Given the description of an element on the screen output the (x, y) to click on. 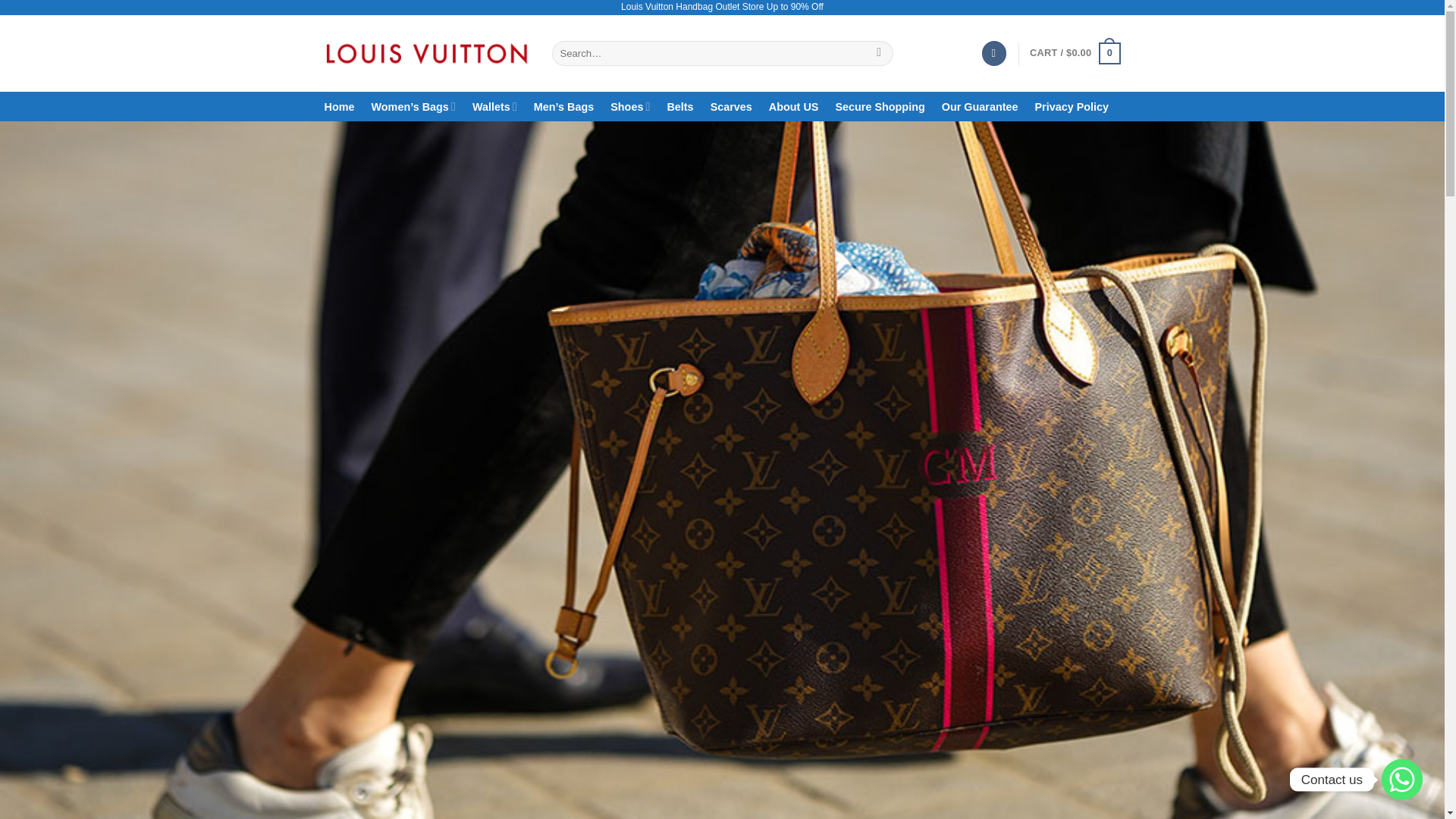
Home (339, 106)
Wallets (493, 106)
Cart (1074, 53)
Shoes (629, 106)
Search (878, 53)
Louis Vuitton Handbag Store - Louis Vuitton Outlet Online (426, 53)
